Given the description of an element on the screen output the (x, y) to click on. 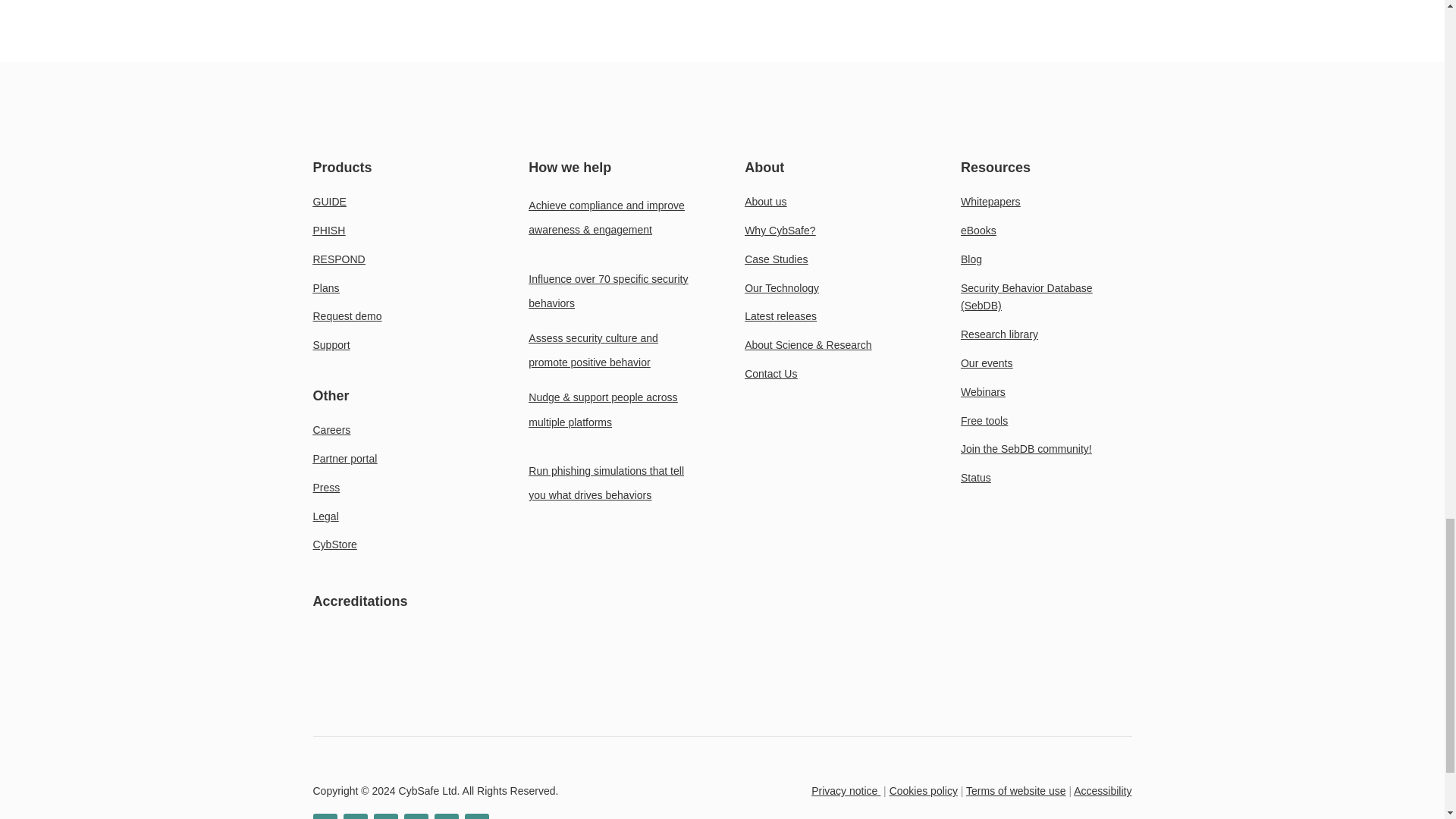
Follow on Facebook (415, 816)
Follow on RSS (475, 816)
iso 27001 cybsafe 2 (334, 677)
cyber essentials certified cybsafe 3 (478, 677)
wcag compliant cybsafe 5 (766, 677)
Follow on LinkedIn (324, 816)
cyber essentials certified plus cybsafe 4 (622, 677)
Follow on X (354, 816)
iso 90001 cybsafe 1 (190, 677)
Follow on Youtube (384, 816)
Follow on Instagram (445, 816)
